Given the description of an element on the screen output the (x, y) to click on. 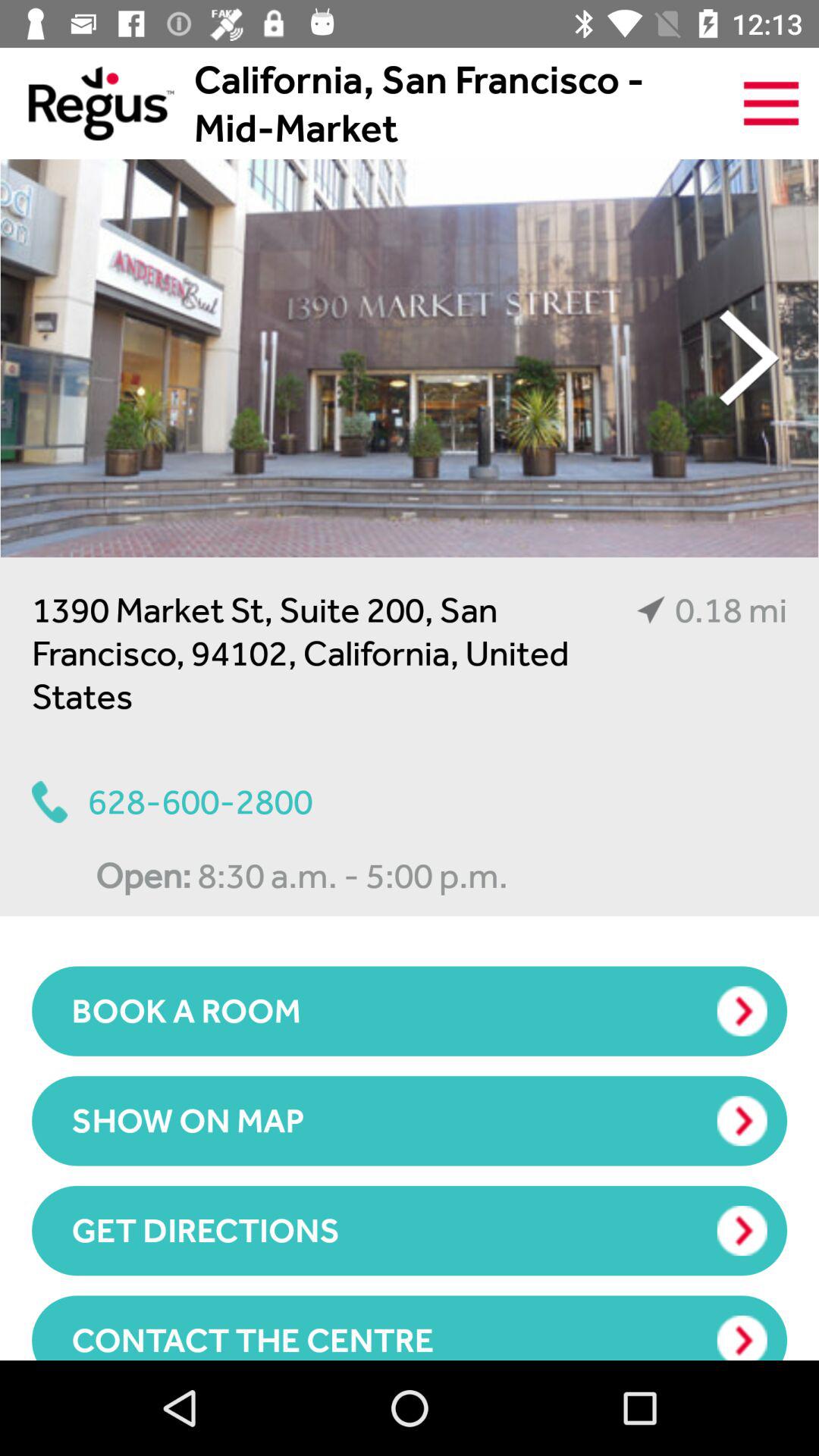
launch the contact the centre icon (409, 1327)
